Given the description of an element on the screen output the (x, y) to click on. 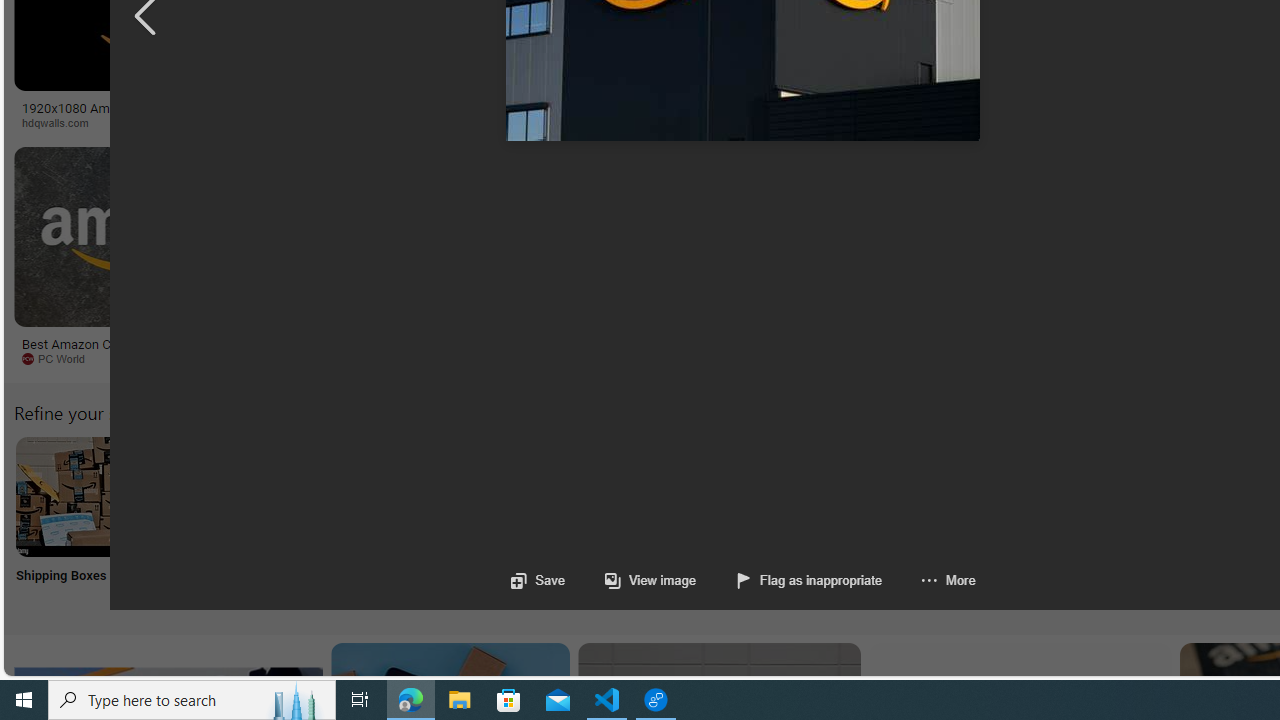
Amazon Online Shopping Search Online Shopping Search (207, 521)
Amazon Shipping Boxes (75, 496)
Clip Art (339, 521)
Amazon Jobs Near Me (604, 496)
Amazon Clip Art Clip Art (339, 521)
hdqwalls.com (61, 121)
Amazon Online Shopping Search (207, 496)
Package Delivery (735, 521)
Wish List (999, 521)
How Much Is Amazon's Net Worth? | GOBankingRates (485, 114)
